Given the description of an element on the screen output the (x, y) to click on. 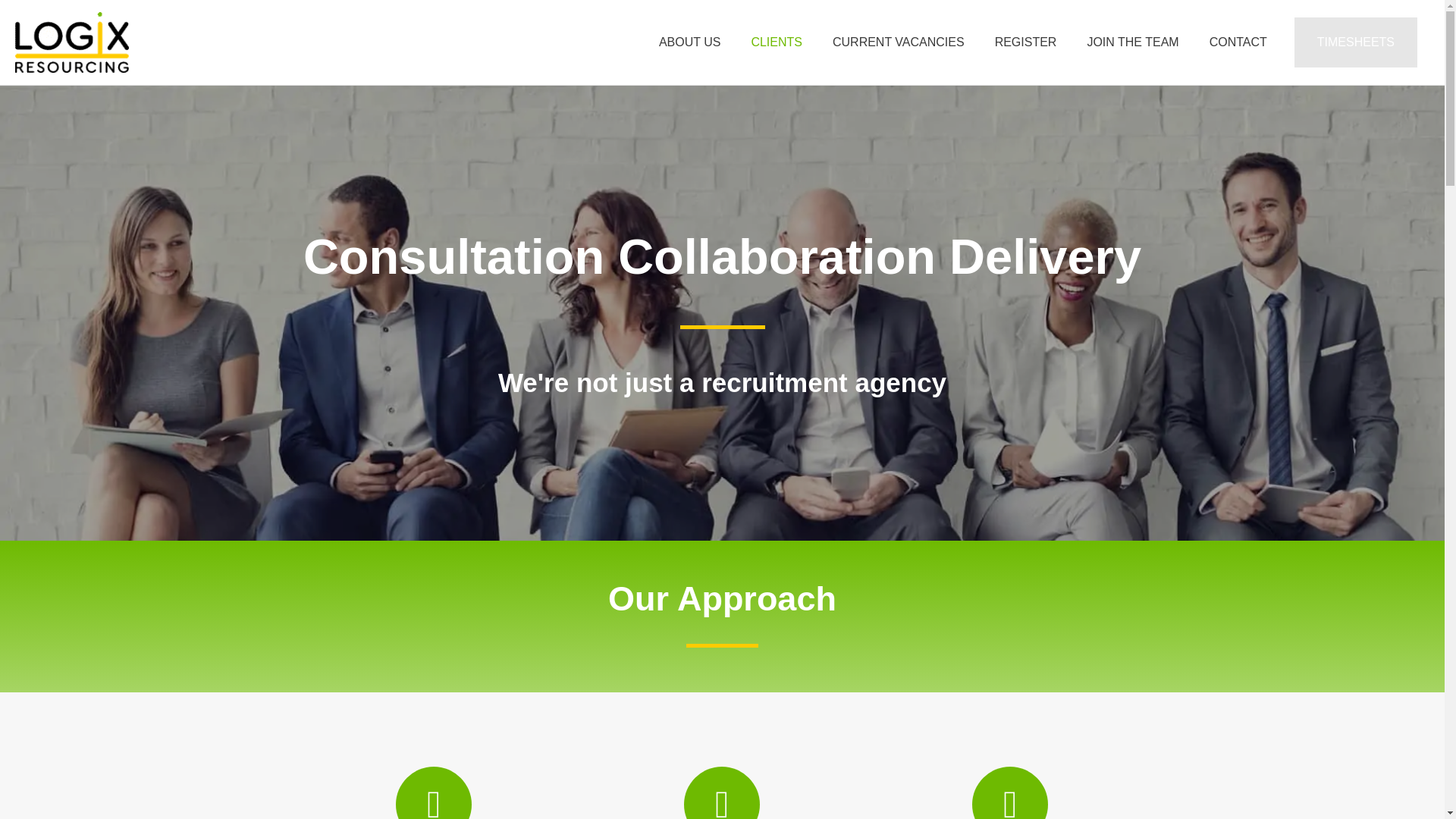
REGISTER (1025, 42)
TIMESHEETS (1355, 42)
JOIN THE TEAM (1132, 42)
CURRENT VACANCIES (897, 42)
ABOUT US (689, 42)
CONTACT (1237, 42)
CLIENTS (775, 42)
